Given the description of an element on the screen output the (x, y) to click on. 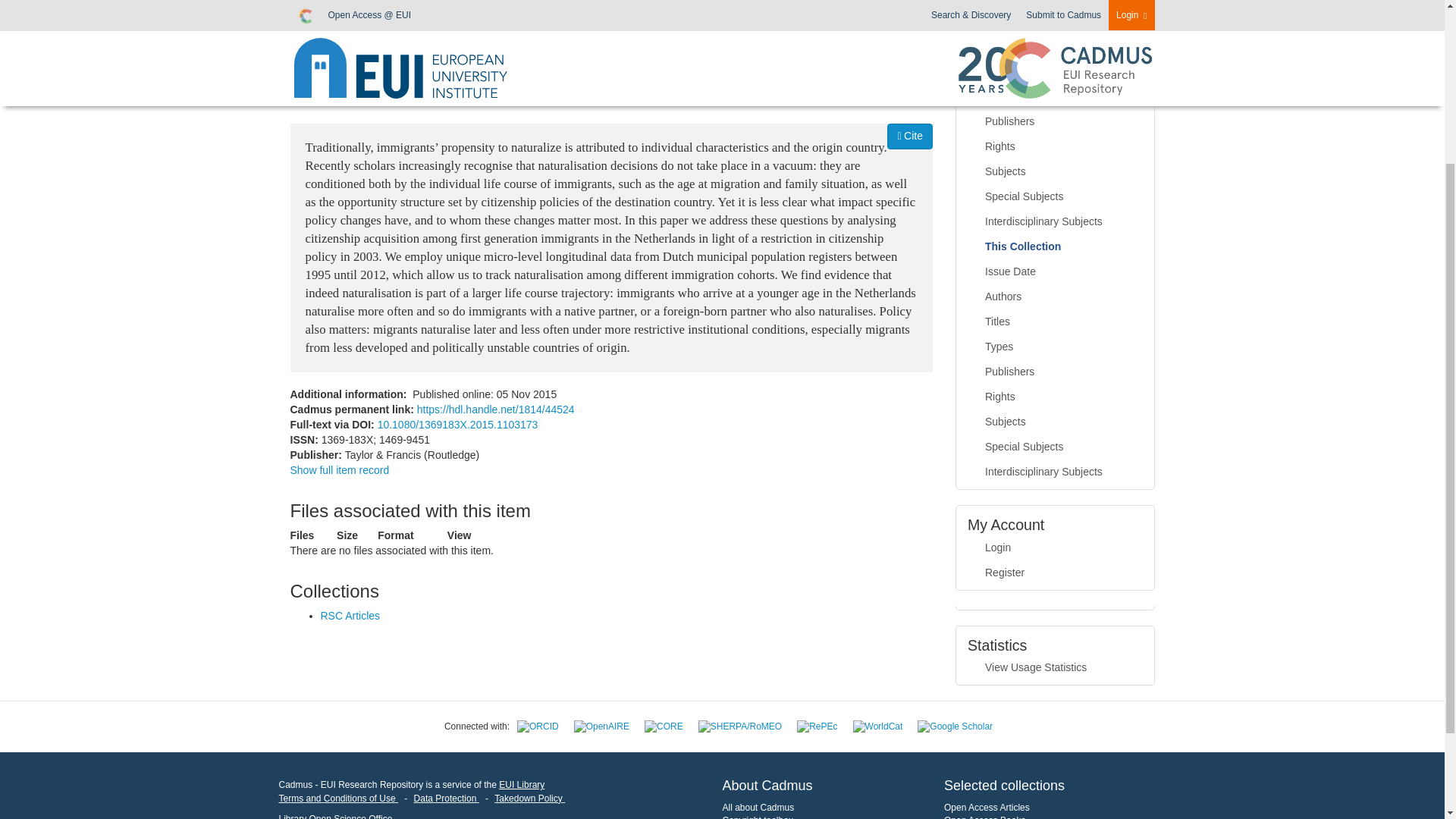
Show full item record (338, 469)
EUI affiliated (519, 67)
Publishers (1055, 121)
Subjects (1055, 171)
Special Subjects (1055, 196)
Titles (1055, 71)
Go to Disclaimer (338, 798)
SCHMEETS, Hans (603, 65)
Authors (1055, 46)
RSC Articles (350, 615)
